Given the description of an element on the screen output the (x, y) to click on. 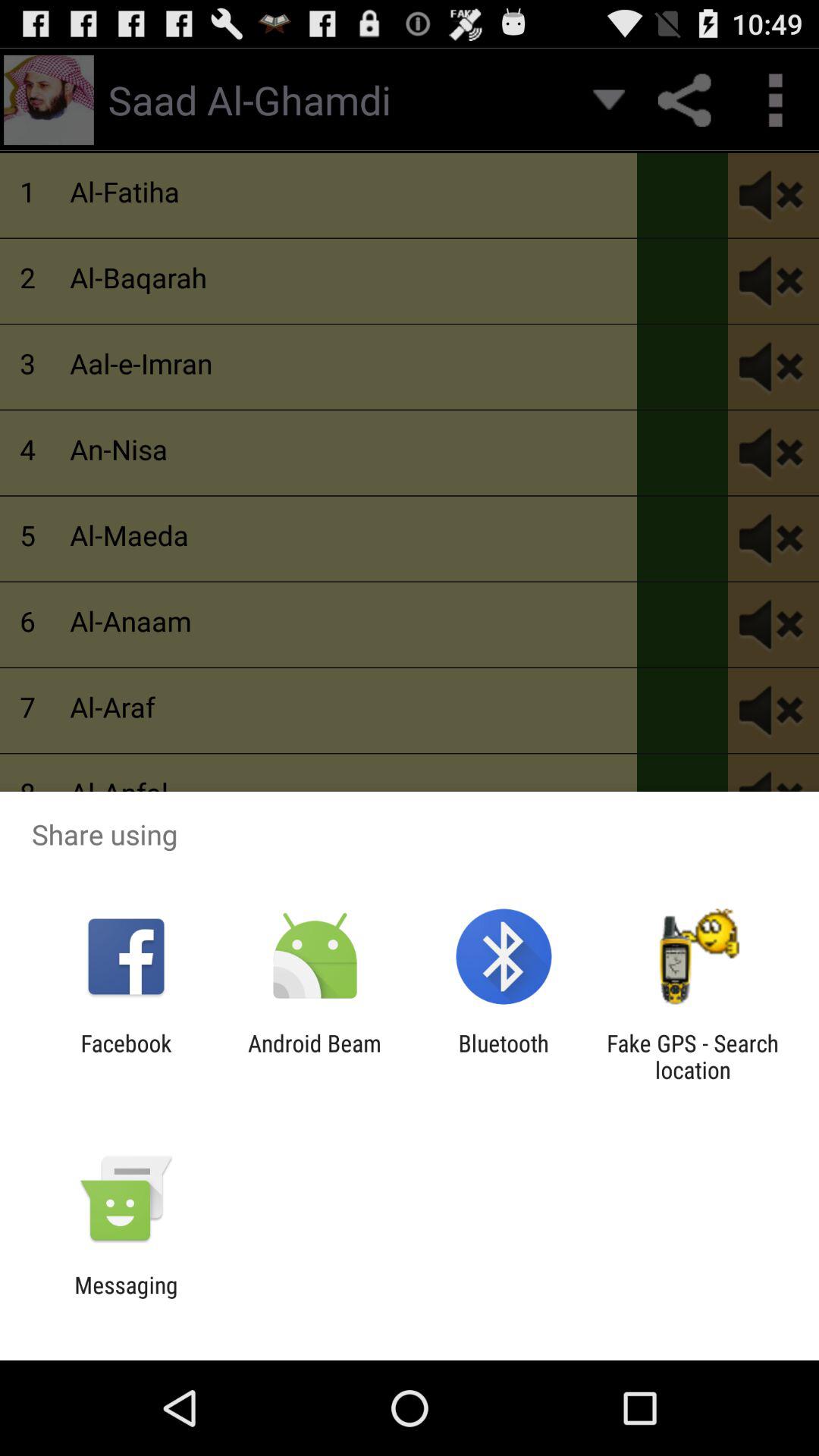
launch the item next to bluetooth (692, 1056)
